Given the description of an element on the screen output the (x, y) to click on. 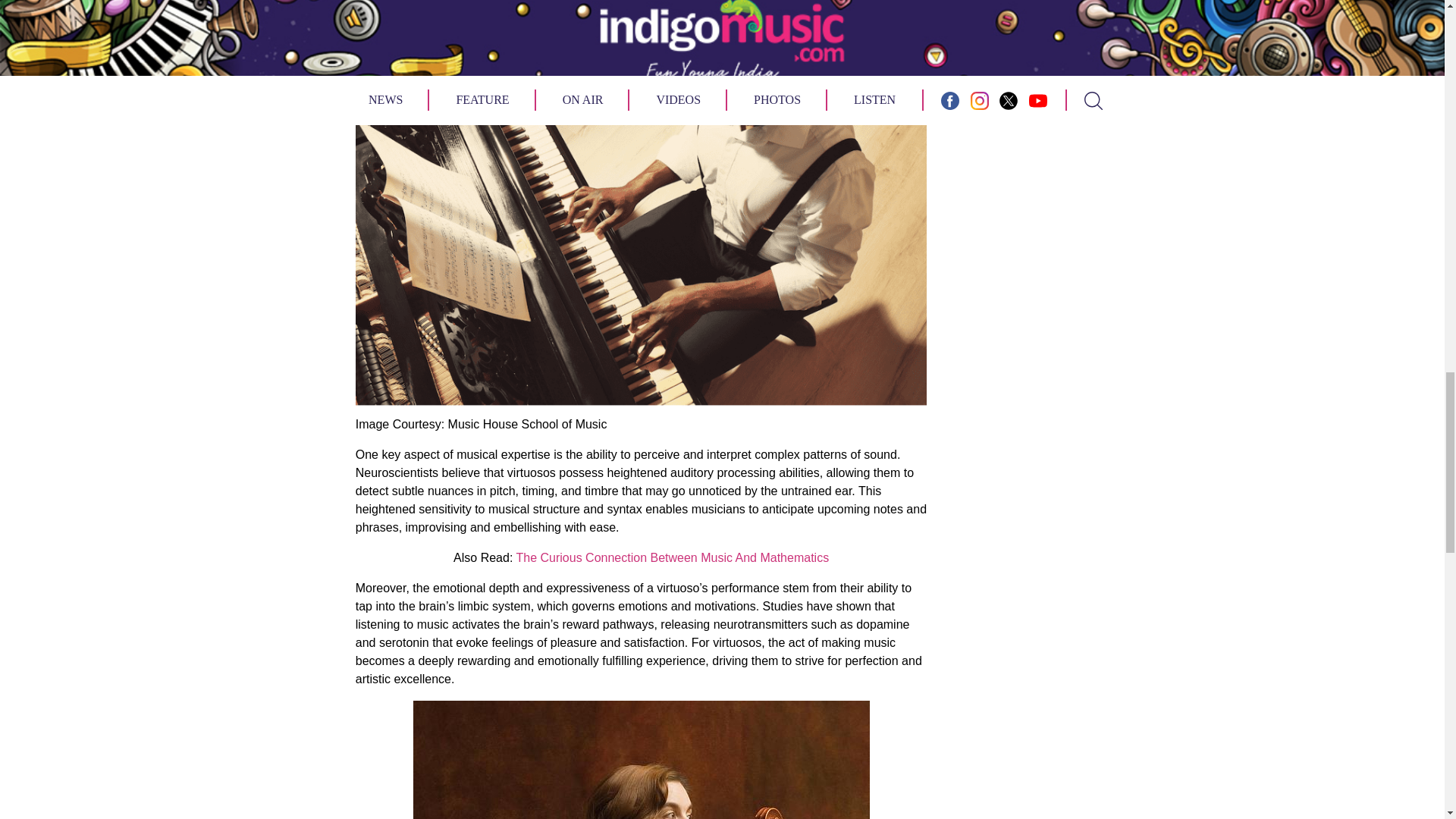
The Curious Connection Between Music And Mathematics (671, 557)
